Given the description of an element on the screen output the (x, y) to click on. 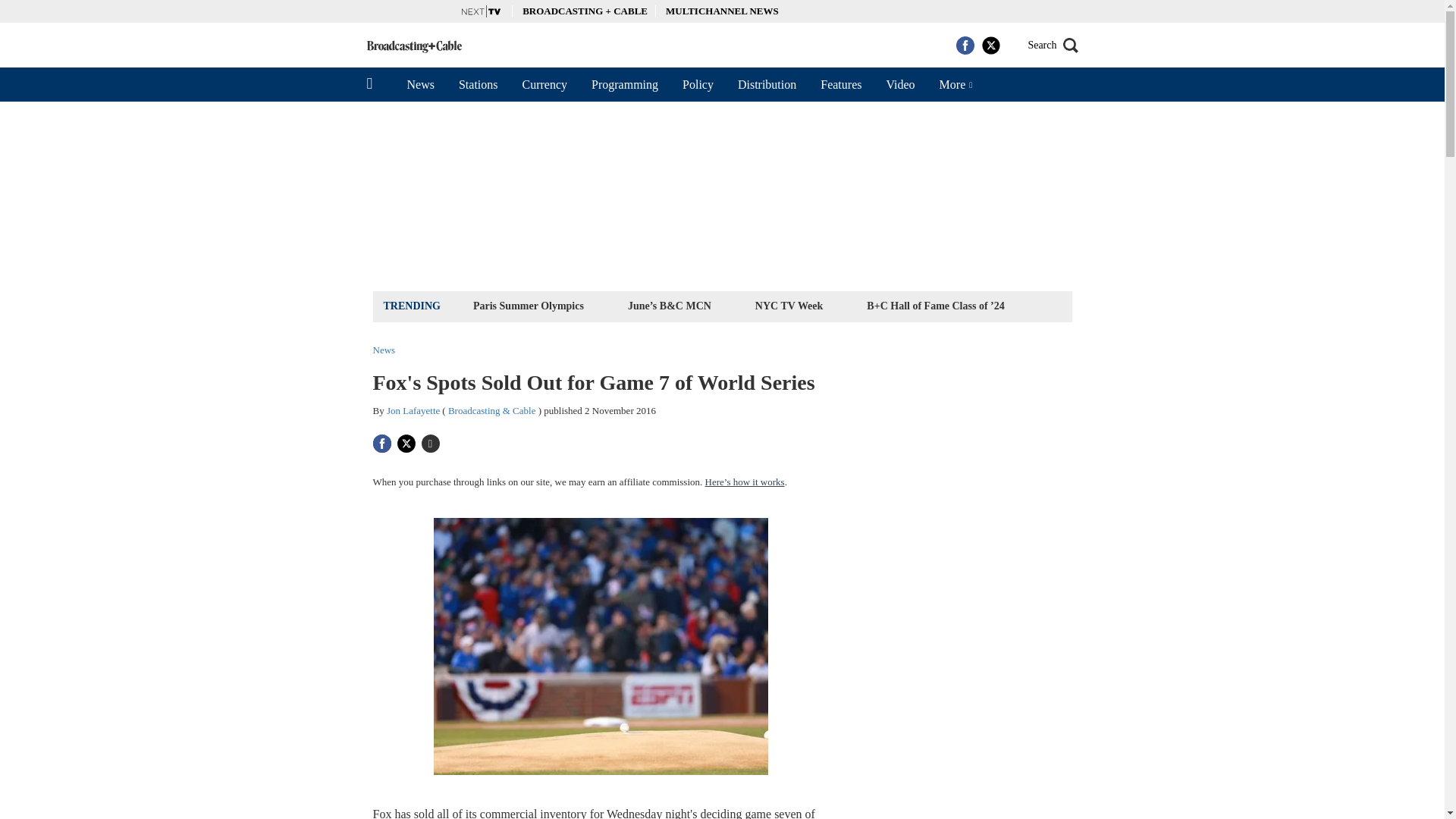
News (419, 84)
Stations (478, 84)
Programming (624, 84)
Paris Summer Olympics (528, 305)
Currency (544, 84)
Policy (697, 84)
Distribution (766, 84)
Video (899, 84)
Features (840, 84)
NYC TV Week (788, 305)
Jon Lafayette (413, 410)
MULTICHANNEL NEWS (721, 10)
